Given the description of an element on the screen output the (x, y) to click on. 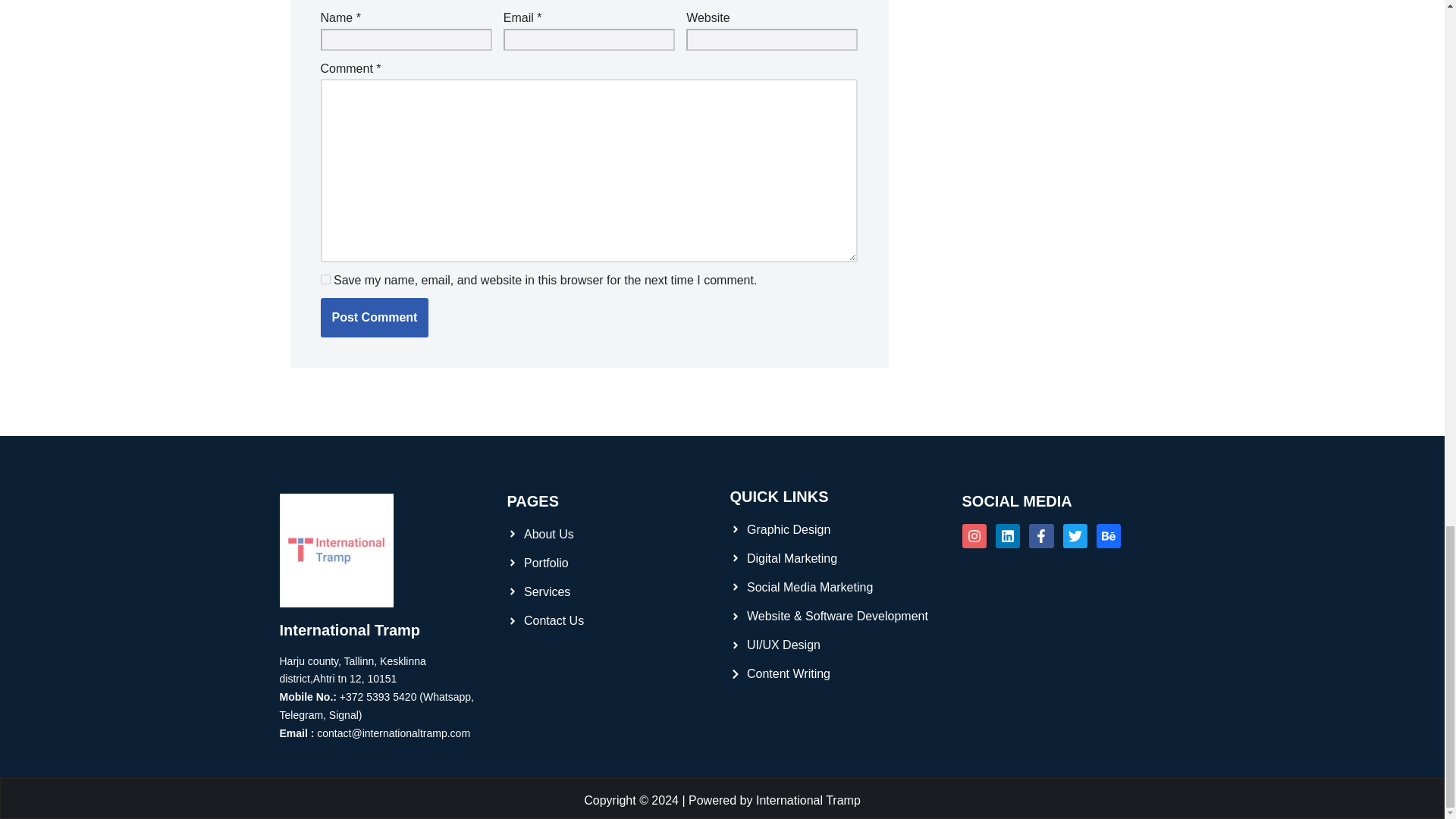
Post Comment (374, 317)
Post Comment (374, 317)
yes (325, 279)
